Given the description of an element on the screen output the (x, y) to click on. 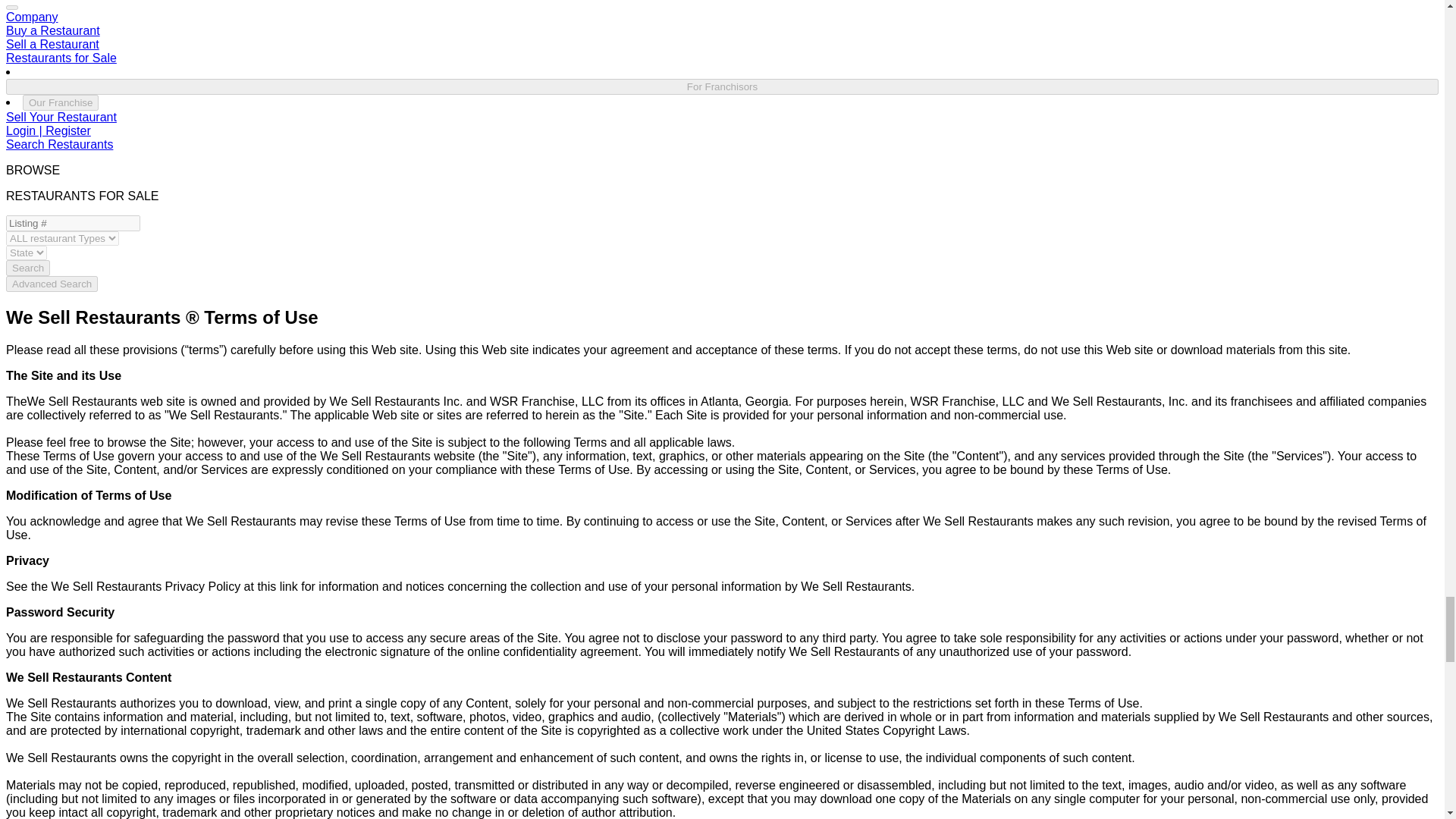
Restaurants for Sale (60, 57)
Sell a Restaurant (52, 43)
Advanced Search (51, 283)
Search Restaurants (59, 144)
Buy a Restaurant (52, 30)
Search (27, 268)
Our Franchise (61, 102)
Sell Your Restaurant (60, 116)
Company (31, 16)
